Given the description of an element on the screen output the (x, y) to click on. 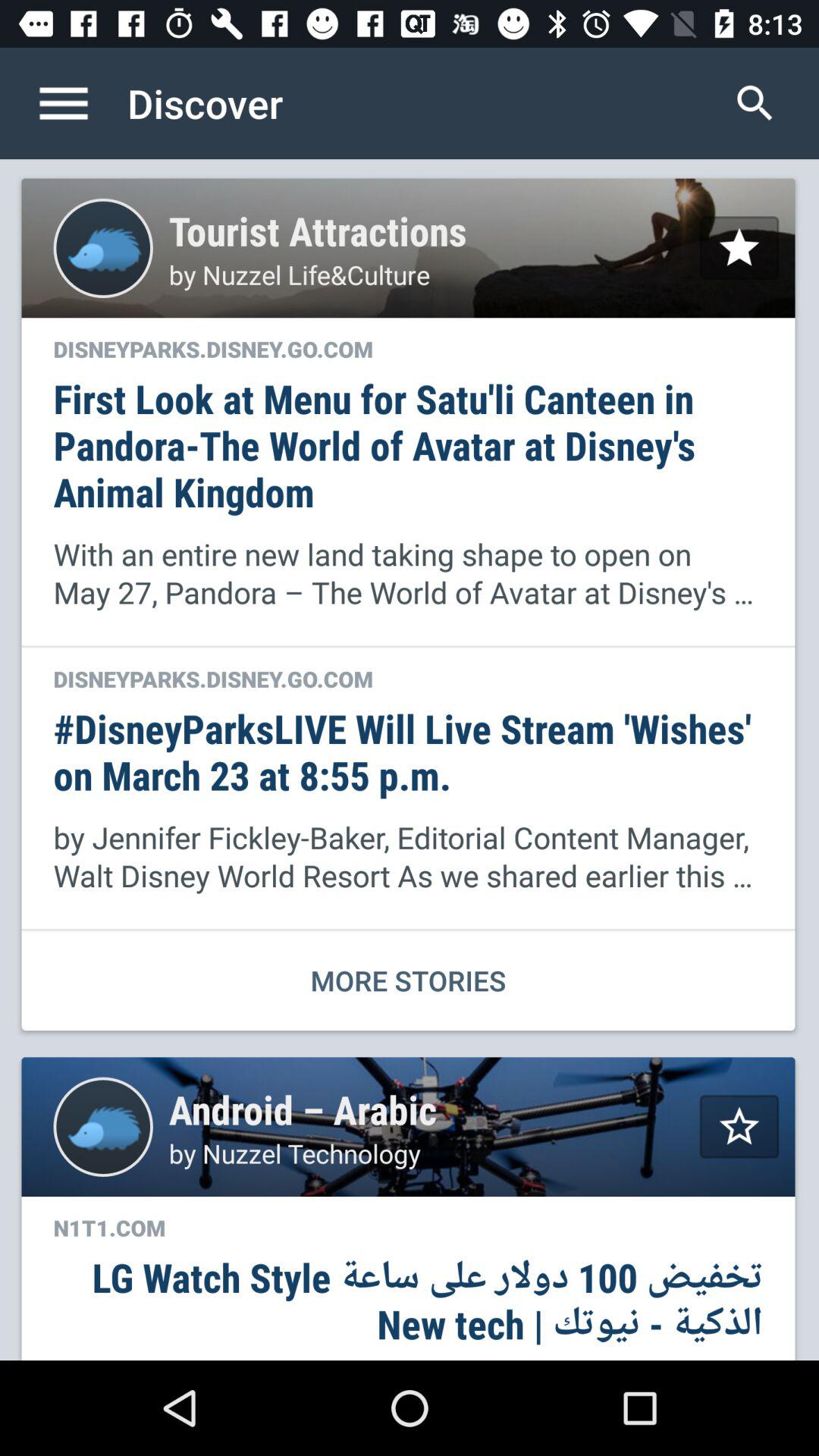
favorite an influencer (739, 247)
